Given the description of an element on the screen output the (x, y) to click on. 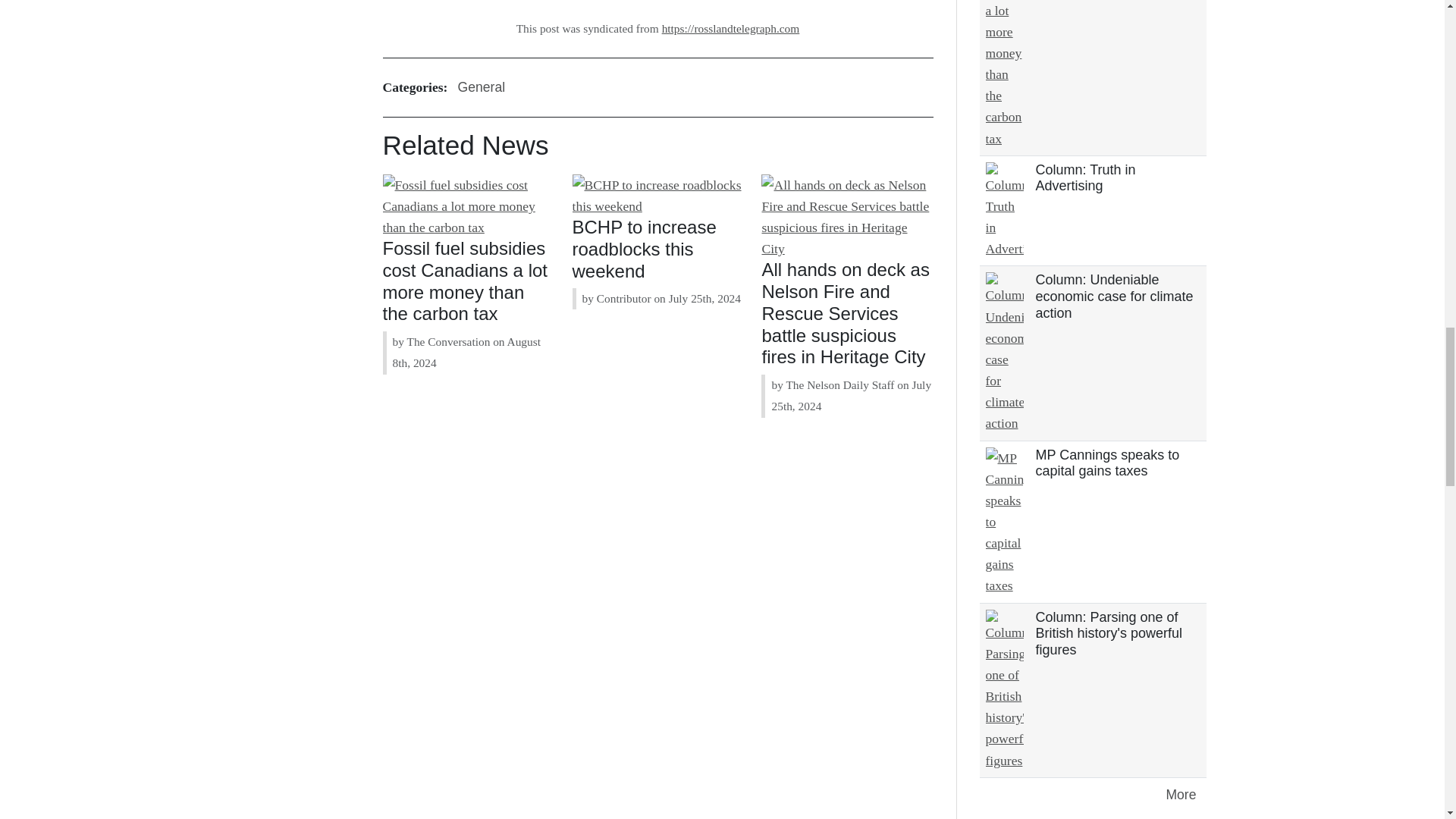
General (480, 87)
BCHP to increase roadblocks this weekend (644, 249)
